Given the description of an element on the screen output the (x, y) to click on. 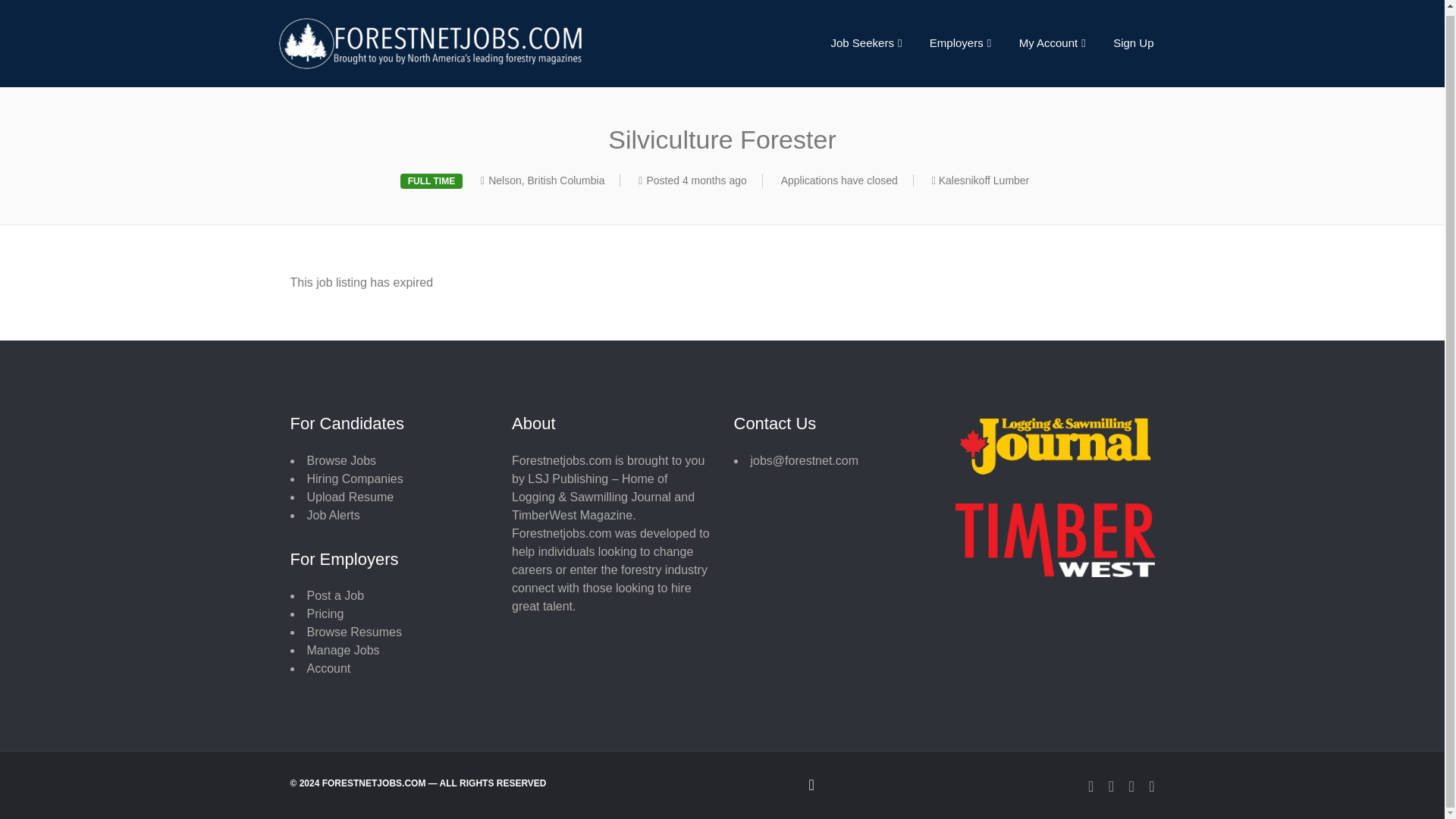
Account (327, 667)
Instgram (1131, 784)
Hiring Companies (354, 478)
Facebook (1090, 784)
Sign Up (1133, 38)
FORESTNETJOBS.COM (495, 38)
Job Alerts (332, 514)
Twitter (1110, 784)
Kalesnikoff Lumber (984, 180)
Browse Jobs (340, 460)
Linked In (1151, 784)
Browse Resumes (353, 631)
Employers (960, 38)
Back to Top (721, 784)
Post a Job (334, 594)
